Given the description of an element on the screen output the (x, y) to click on. 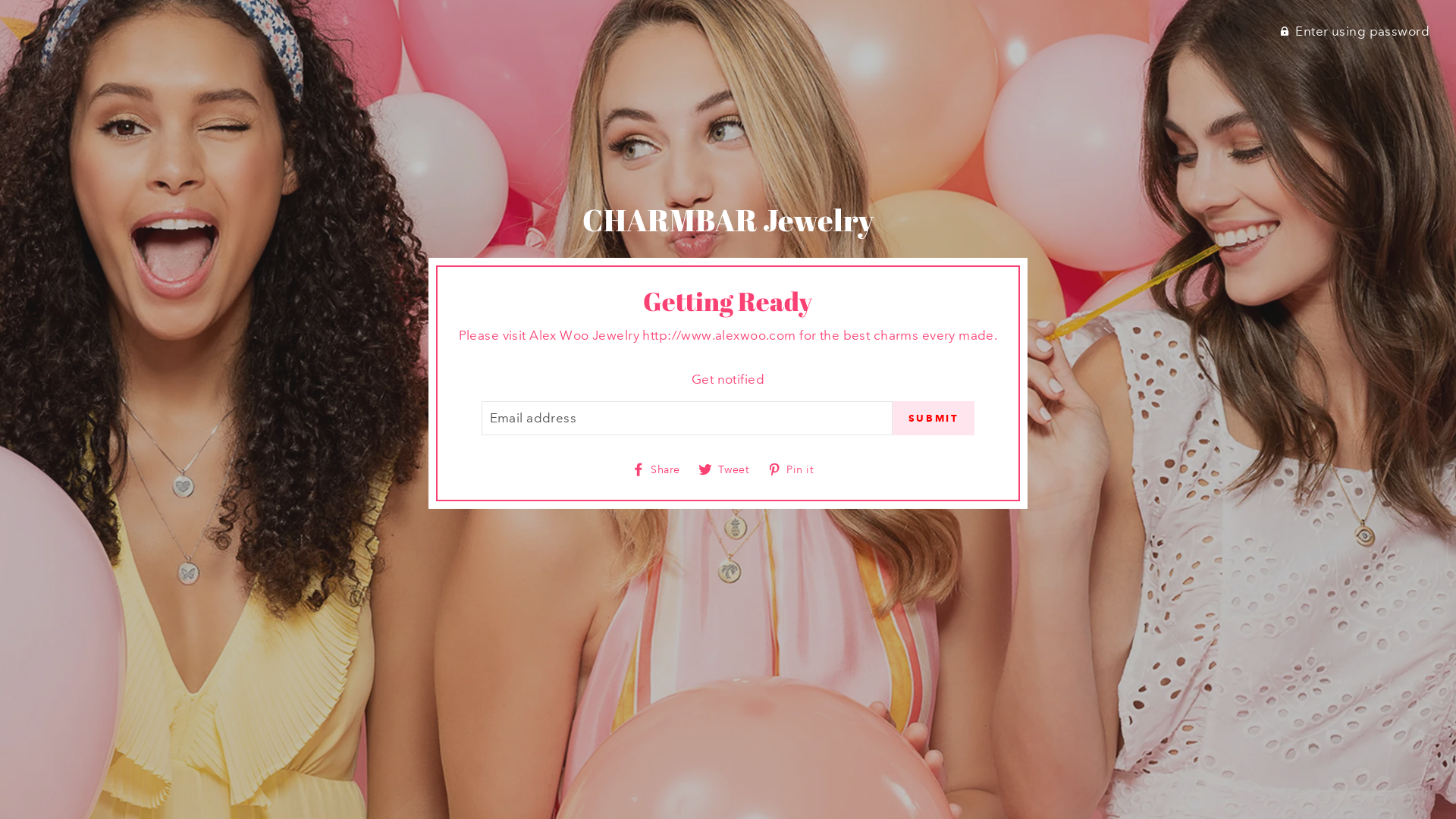
SUBMIT Element type: text (933, 418)
Pin it
Pin on Pinterest Element type: text (795, 468)
Share
Share on Facebook Element type: text (661, 468)
Tweet
Tweet on Twitter Element type: text (728, 468)
Enter using password Element type: text (1354, 31)
